Given the description of an element on the screen output the (x, y) to click on. 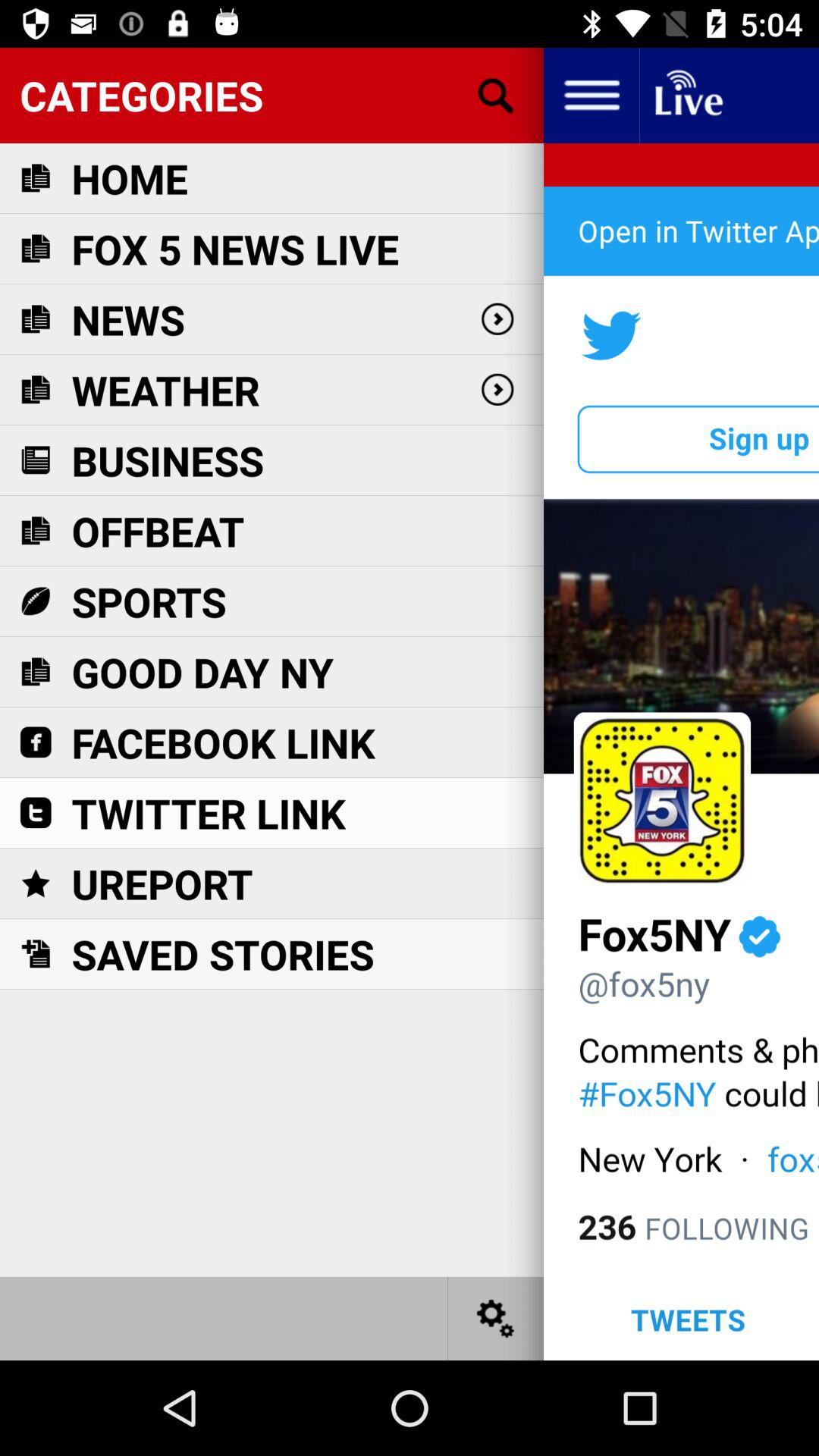
flip to good day ny icon (202, 671)
